Given the description of an element on the screen output the (x, y) to click on. 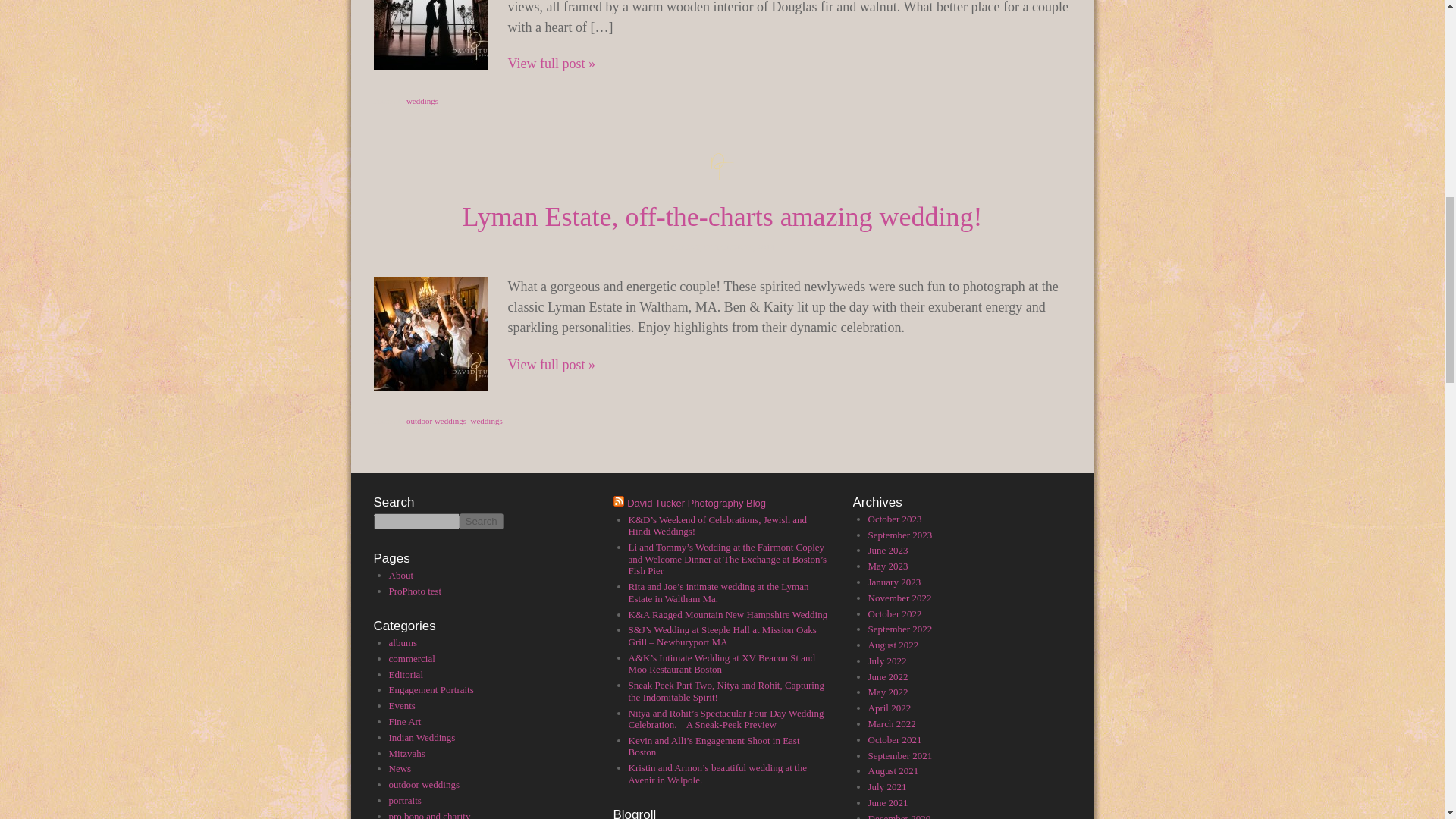
View full post  (429, 34)
Search (481, 521)
Lyman Estate, off-the-charts amazing wedding! (551, 364)
Lyman Estate, off-the-charts amazing wedding! (721, 216)
Search (481, 521)
weddings (422, 100)
View full post  (429, 333)
Shalin Liu Wedding in Rockport, MA (551, 63)
Permalink to Lyman Estate, off-the-charts amazing wedding! (721, 216)
